Given the description of an element on the screen output the (x, y) to click on. 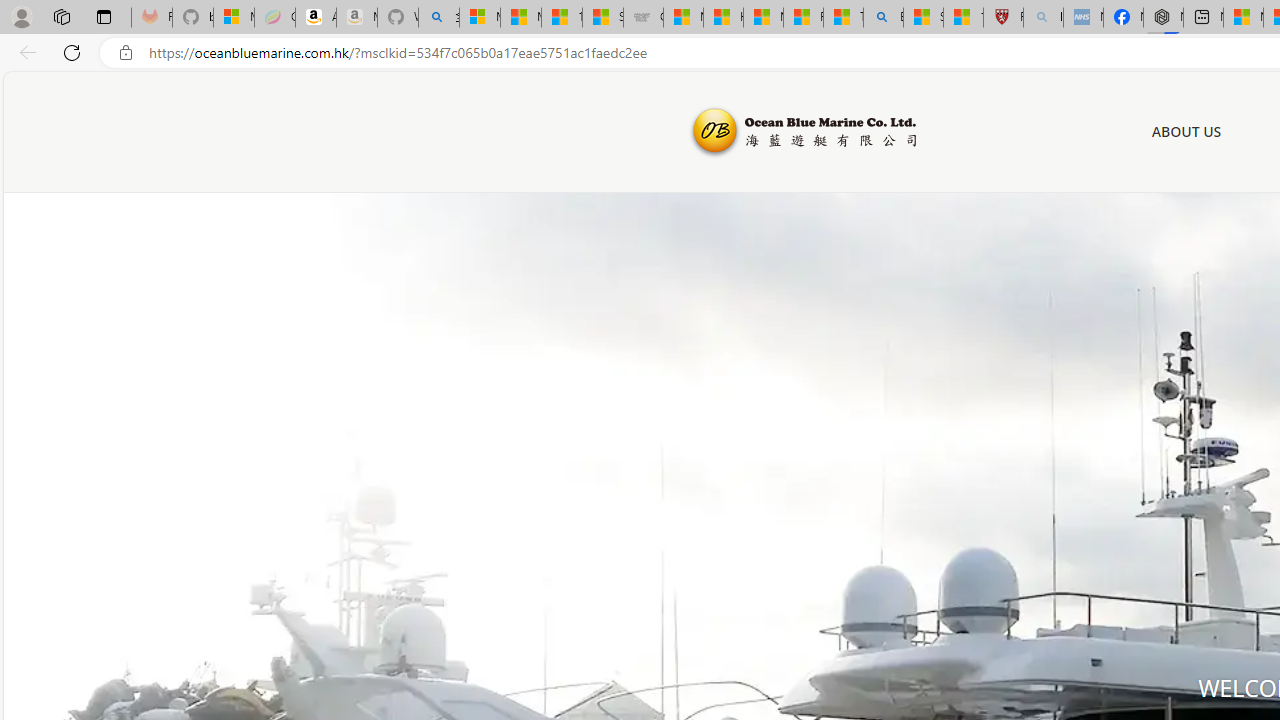
ABOUT US (1186, 132)
